Given the description of an element on the screen output the (x, y) to click on. 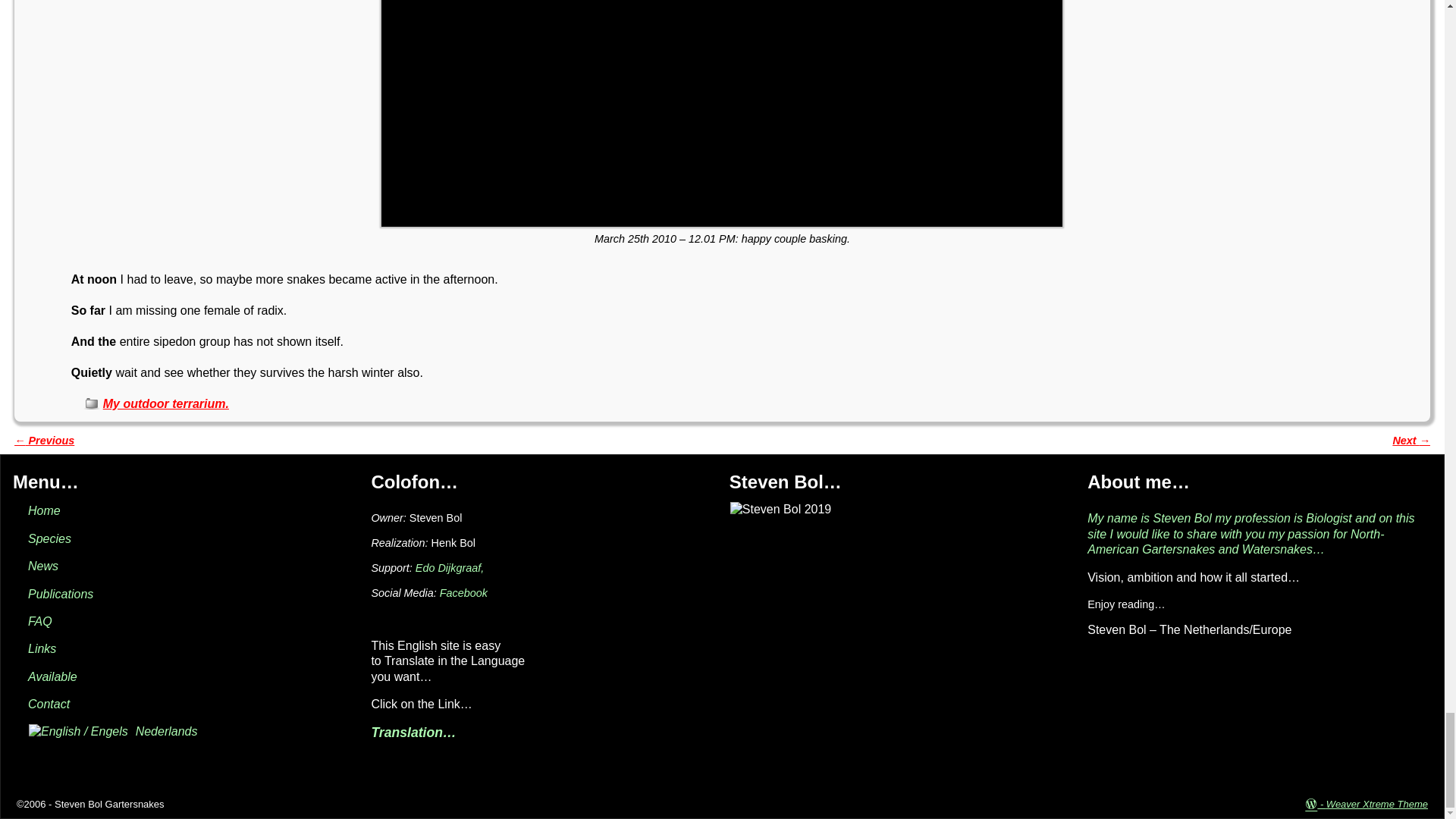
Links (41, 648)
My outdoor terrarium. (165, 403)
Publications (60, 594)
Home (44, 510)
News (42, 565)
Contact (48, 703)
Species (49, 538)
FAQ (39, 621)
Available (52, 676)
